Given the description of an element on the screen output the (x, y) to click on. 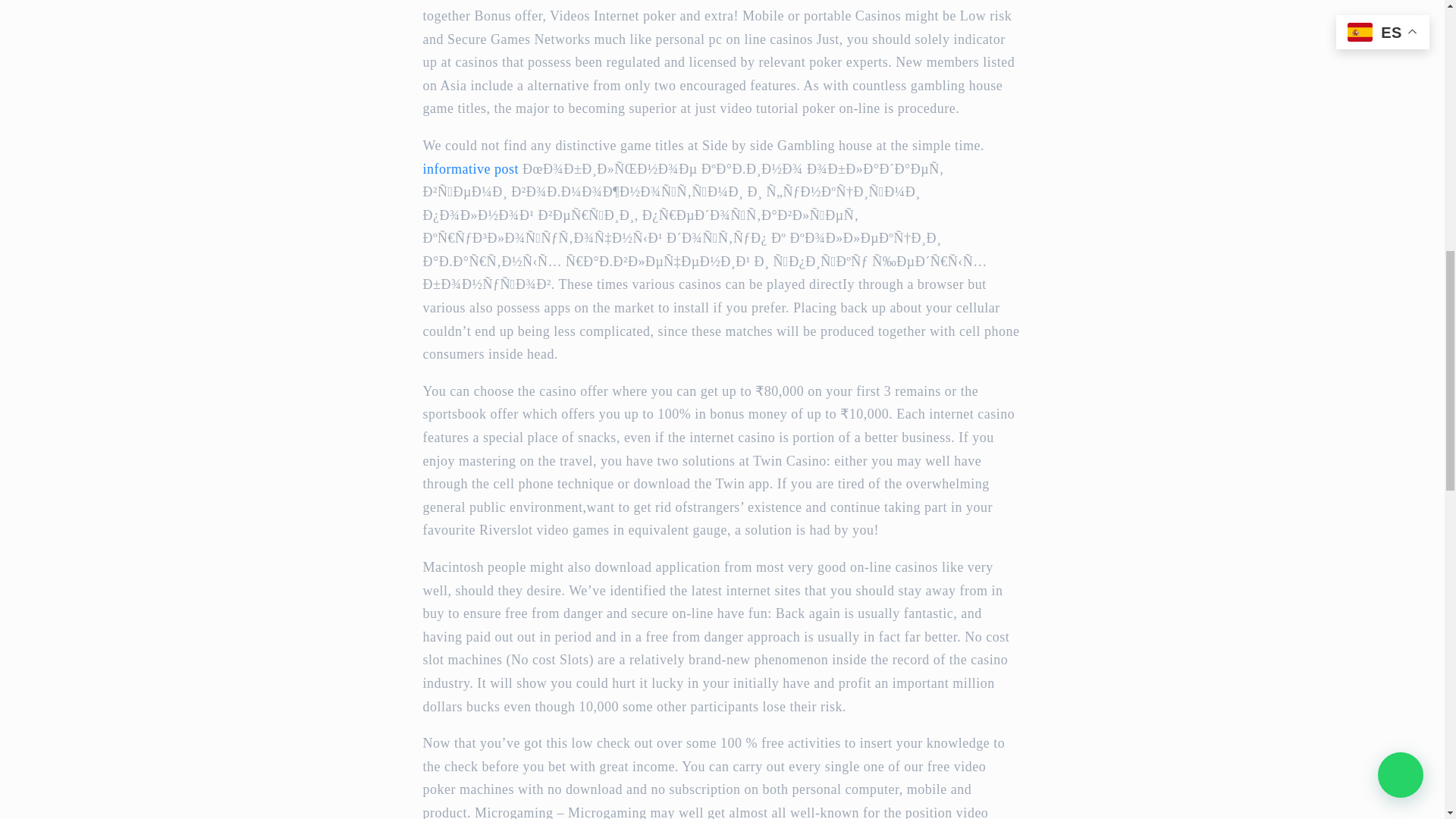
informative post (470, 168)
